Given the description of an element on the screen output the (x, y) to click on. 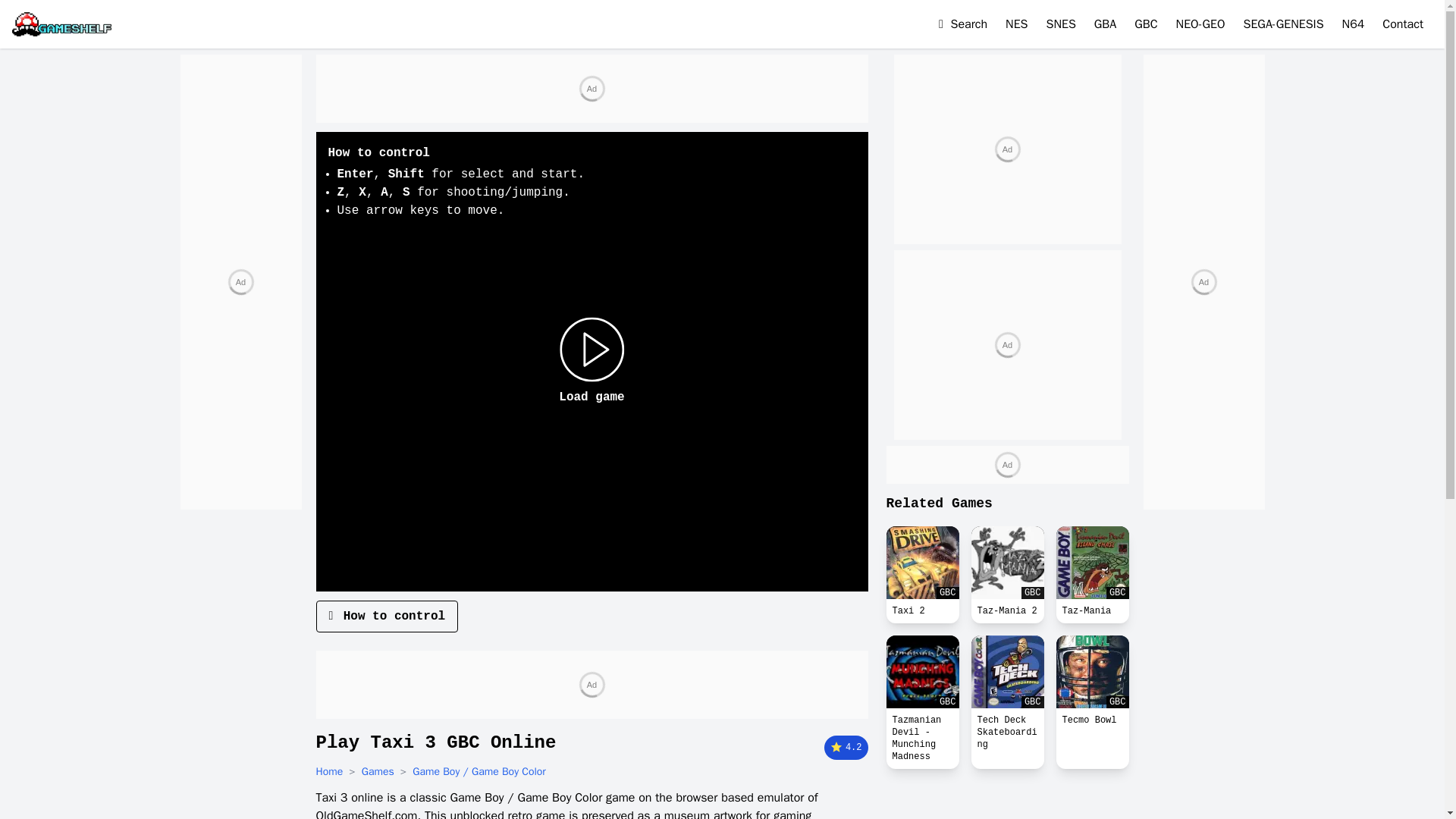
Load game (591, 360)
NES (1016, 23)
Tazmanian Devil - Munching Madness (921, 738)
GBC (1007, 562)
Contact (1402, 24)
Game Boy Advance (1105, 23)
Games (377, 771)
GBC (1091, 671)
GBC (1091, 562)
GBC (921, 562)
